Given the description of an element on the screen output the (x, y) to click on. 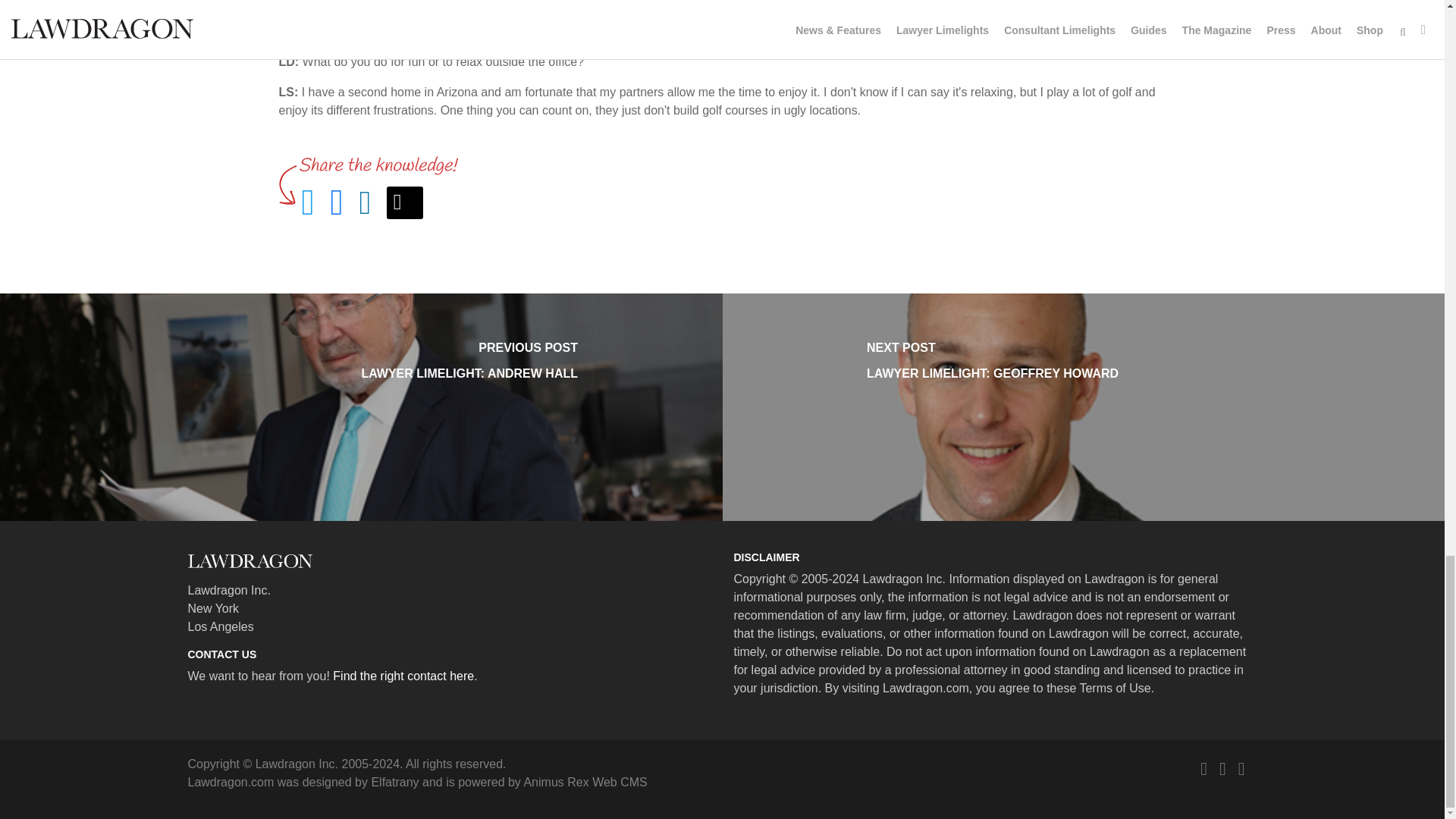
Elfatrany (395, 781)
Email (584, 781)
Find the right contact here (405, 202)
